Given the description of an element on the screen output the (x, y) to click on. 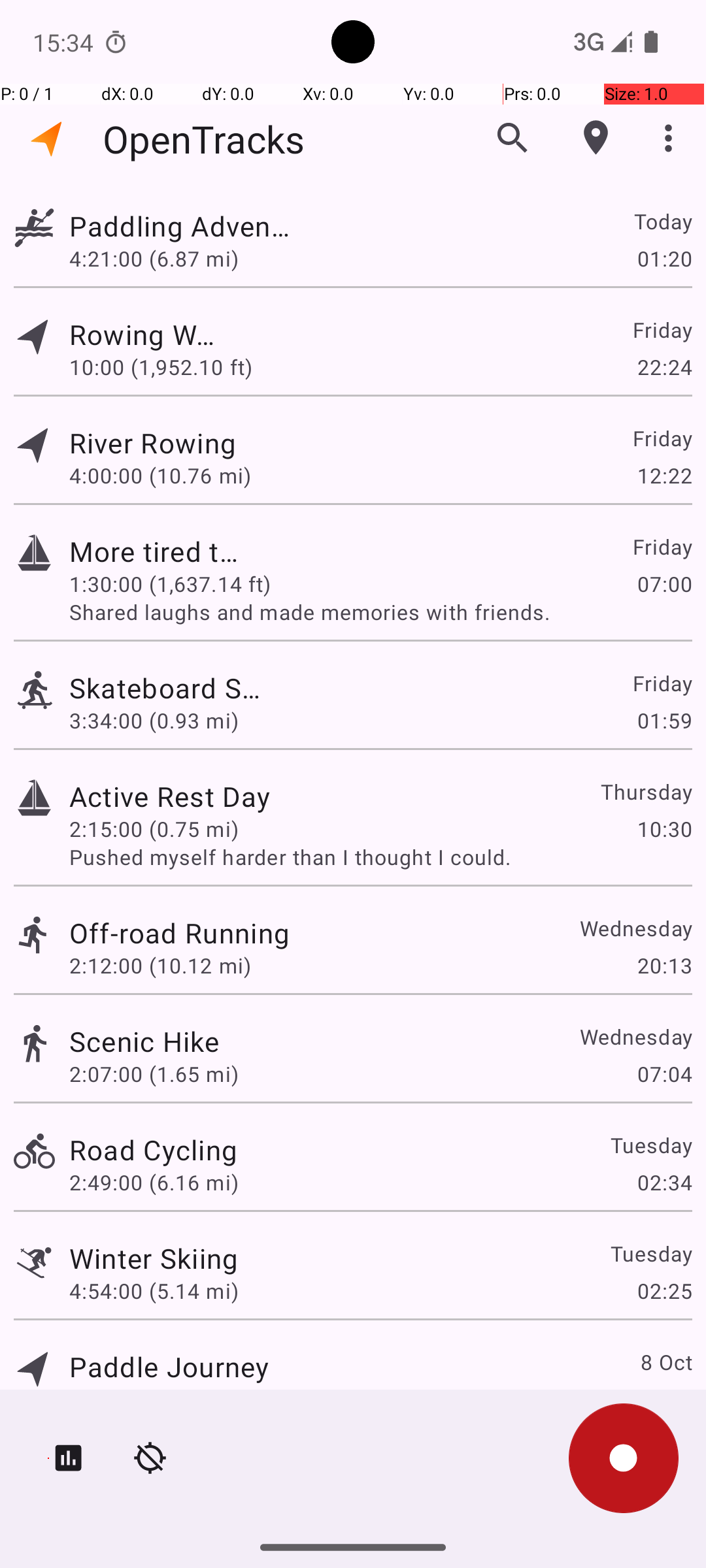
Paddling Adventure Element type: android.widget.TextView (179, 225)
4:21:00 (6.87 mi) Element type: android.widget.TextView (159, 258)
01:20 Element type: android.widget.TextView (664, 258)
Rowing Workout Element type: android.widget.TextView (144, 333)
10:00 (1,952.10 ft) Element type: android.widget.TextView (160, 366)
22:24 Element type: android.widget.TextView (664, 366)
River Rowing Element type: android.widget.TextView (152, 442)
4:00:00 (10.76 mi) Element type: android.widget.TextView (159, 475)
12:22 Element type: android.widget.TextView (664, 475)
More tired than usual today Element type: android.widget.TextView (153, 550)
1:30:00 (1,637.14 ft) Element type: android.widget.TextView (169, 583)
Shared laughs and made memories with friends. Element type: android.widget.TextView (380, 611)
Skateboard Session Element type: android.widget.TextView (168, 687)
3:34:00 (0.93 mi) Element type: android.widget.TextView (153, 720)
01:59 Element type: android.widget.TextView (664, 720)
Active Rest Day Element type: android.widget.TextView (169, 795)
2:15:00 (0.75 mi) Element type: android.widget.TextView (153, 828)
10:30 Element type: android.widget.TextView (664, 828)
Pushed myself harder than I thought I could. Element type: android.widget.TextView (380, 856)
Off-road Running Element type: android.widget.TextView (179, 932)
2:12:00 (10.12 mi) Element type: android.widget.TextView (159, 965)
20:13 Element type: android.widget.TextView (664, 965)
Scenic Hike Element type: android.widget.TextView (144, 1040)
2:07:00 (1.65 mi) Element type: android.widget.TextView (153, 1073)
07:04 Element type: android.widget.TextView (664, 1073)
Road Cycling Element type: android.widget.TextView (152, 1149)
2:49:00 (6.16 mi) Element type: android.widget.TextView (153, 1182)
02:34 Element type: android.widget.TextView (664, 1182)
Winter Skiing Element type: android.widget.TextView (153, 1257)
4:54:00 (5.14 mi) Element type: android.widget.TextView (153, 1290)
02:25 Element type: android.widget.TextView (664, 1290)
Paddle Journey Element type: android.widget.TextView (168, 1366)
4:34:00 (4.41 mi) Element type: android.widget.TextView (153, 1399)
23:56 Element type: android.widget.TextView (664, 1399)
